Given the description of an element on the screen output the (x, y) to click on. 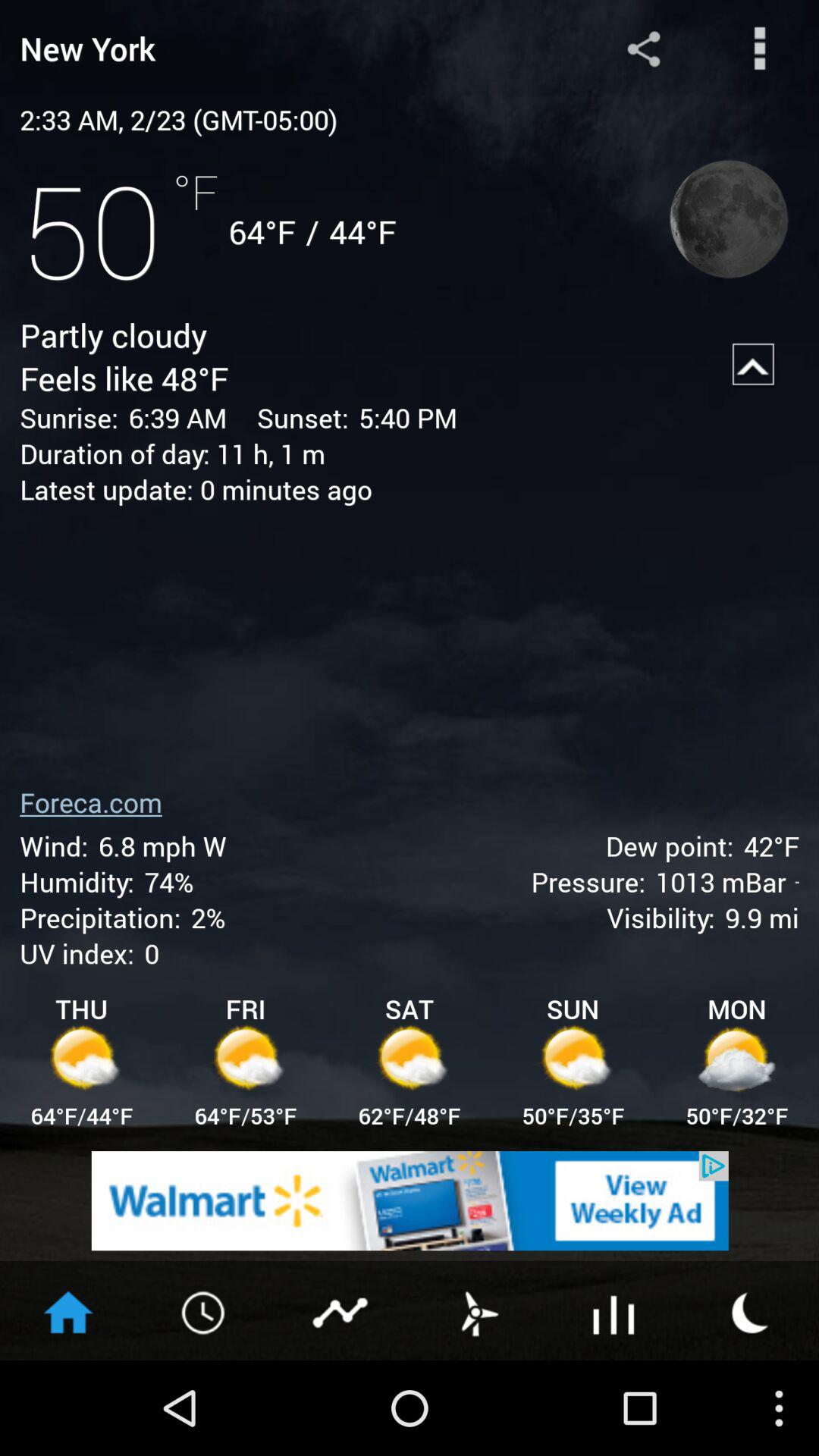
add icone (409, 1200)
